Given the description of an element on the screen output the (x, y) to click on. 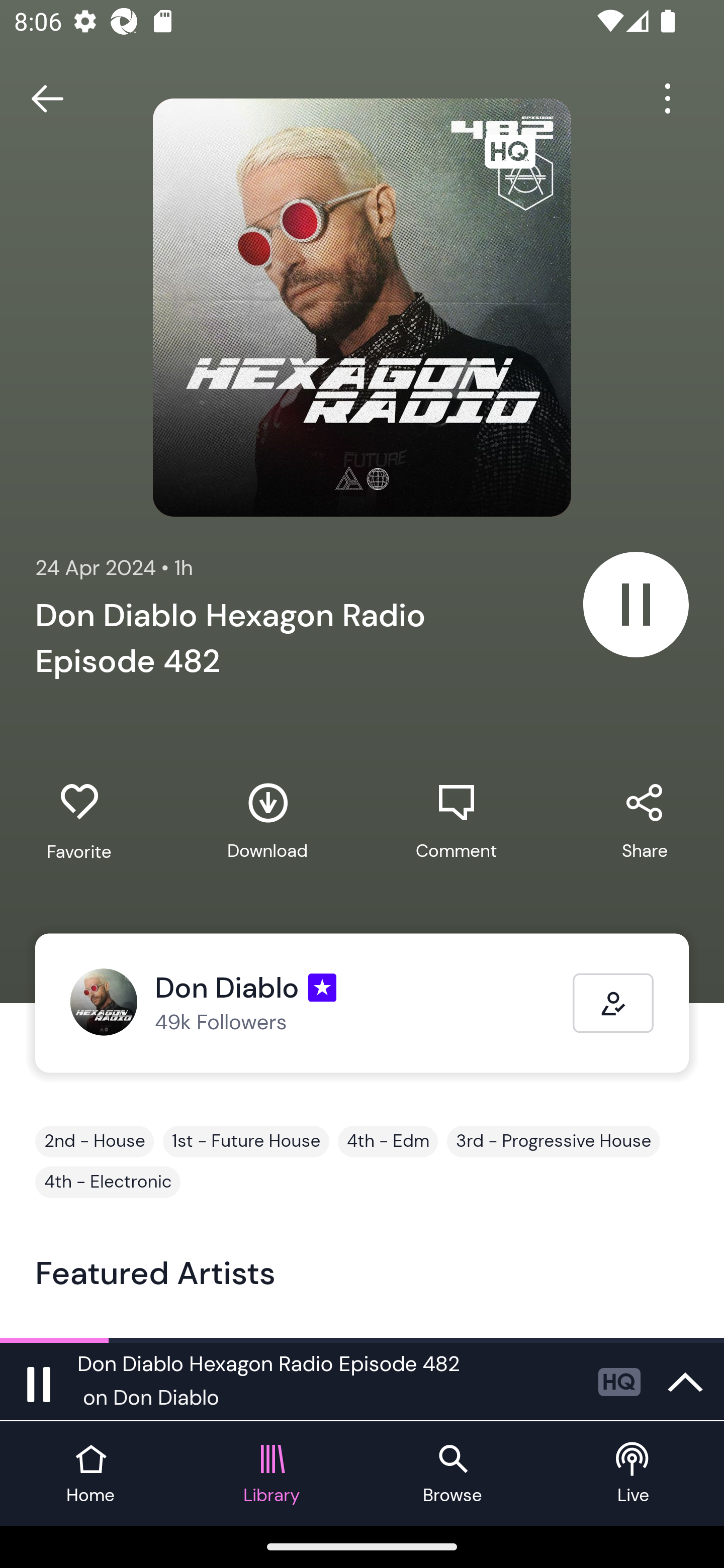
Favorite (79, 821)
Download (267, 821)
Comment (455, 821)
Share (644, 821)
Don Diablo, 49k Followers Don Diablo 49k Followers (321, 1003)
Following (612, 1003)
2nd - House (94, 1141)
1st - Future House (245, 1141)
4th - Edm (388, 1141)
3rd - Progressive House (553, 1141)
4th - Electronic (107, 1181)
Home tab Home (90, 1473)
Library tab Library (271, 1473)
Browse tab Browse (452, 1473)
Live tab Live (633, 1473)
